Given the description of an element on the screen output the (x, y) to click on. 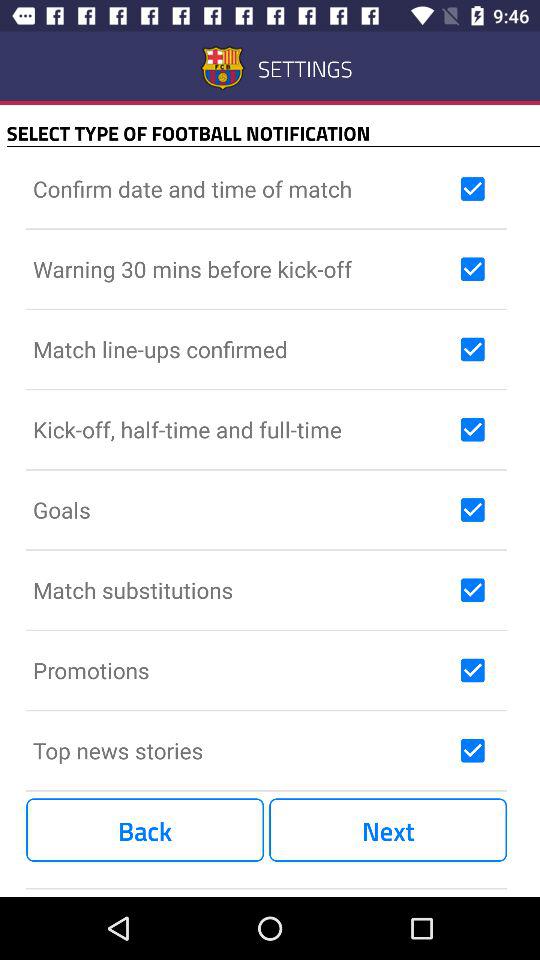
select select type of icon (273, 132)
